Given the description of an element on the screen output the (x, y) to click on. 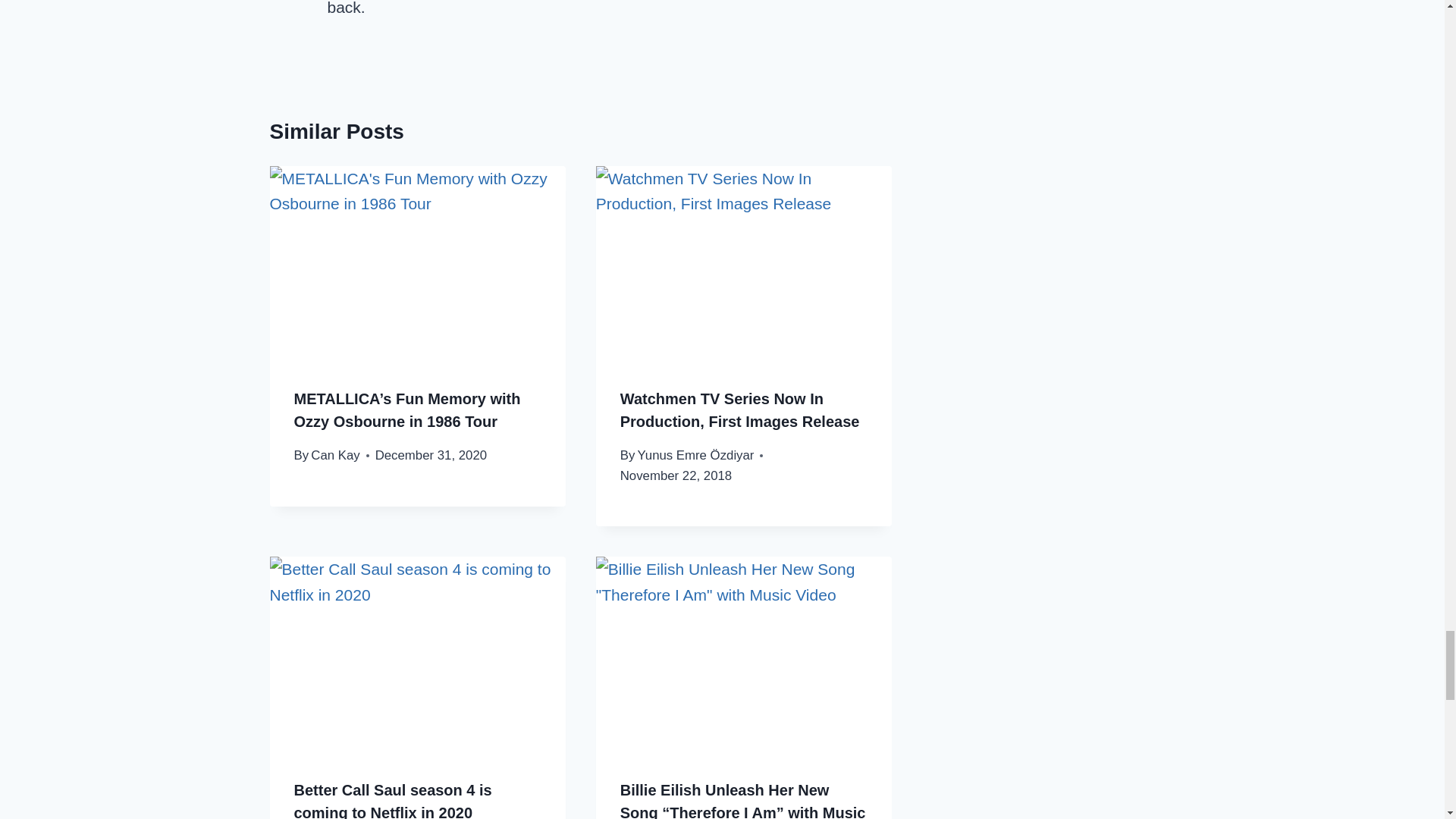
Better Call Saul season 4 is coming to Netflix in 2020 (393, 800)
Can Kay (335, 454)
Watchmen TV Series Now In Production, First Images Release (740, 409)
